Given the description of an element on the screen output the (x, y) to click on. 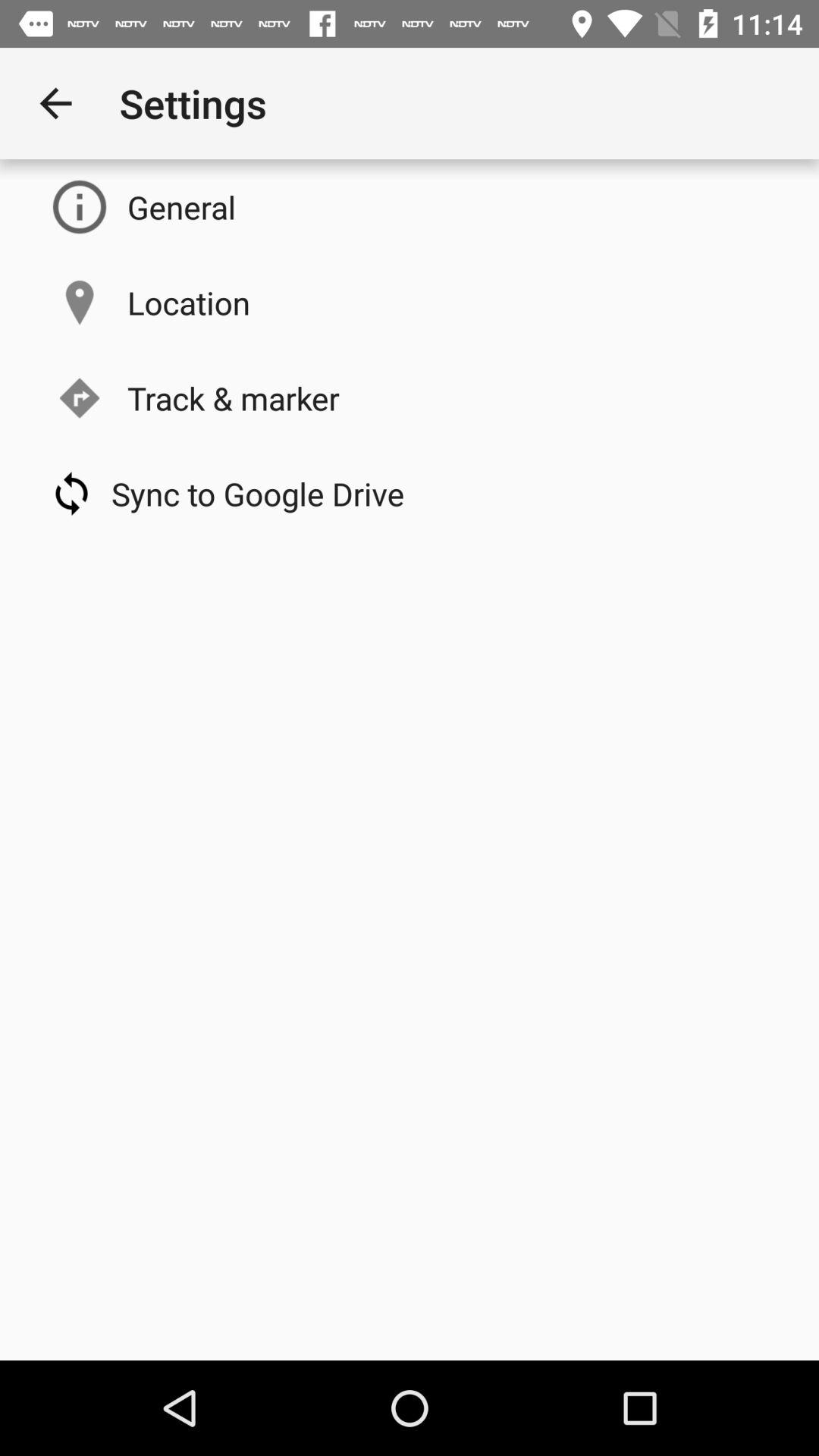
flip to location icon (188, 302)
